Given the description of an element on the screen output the (x, y) to click on. 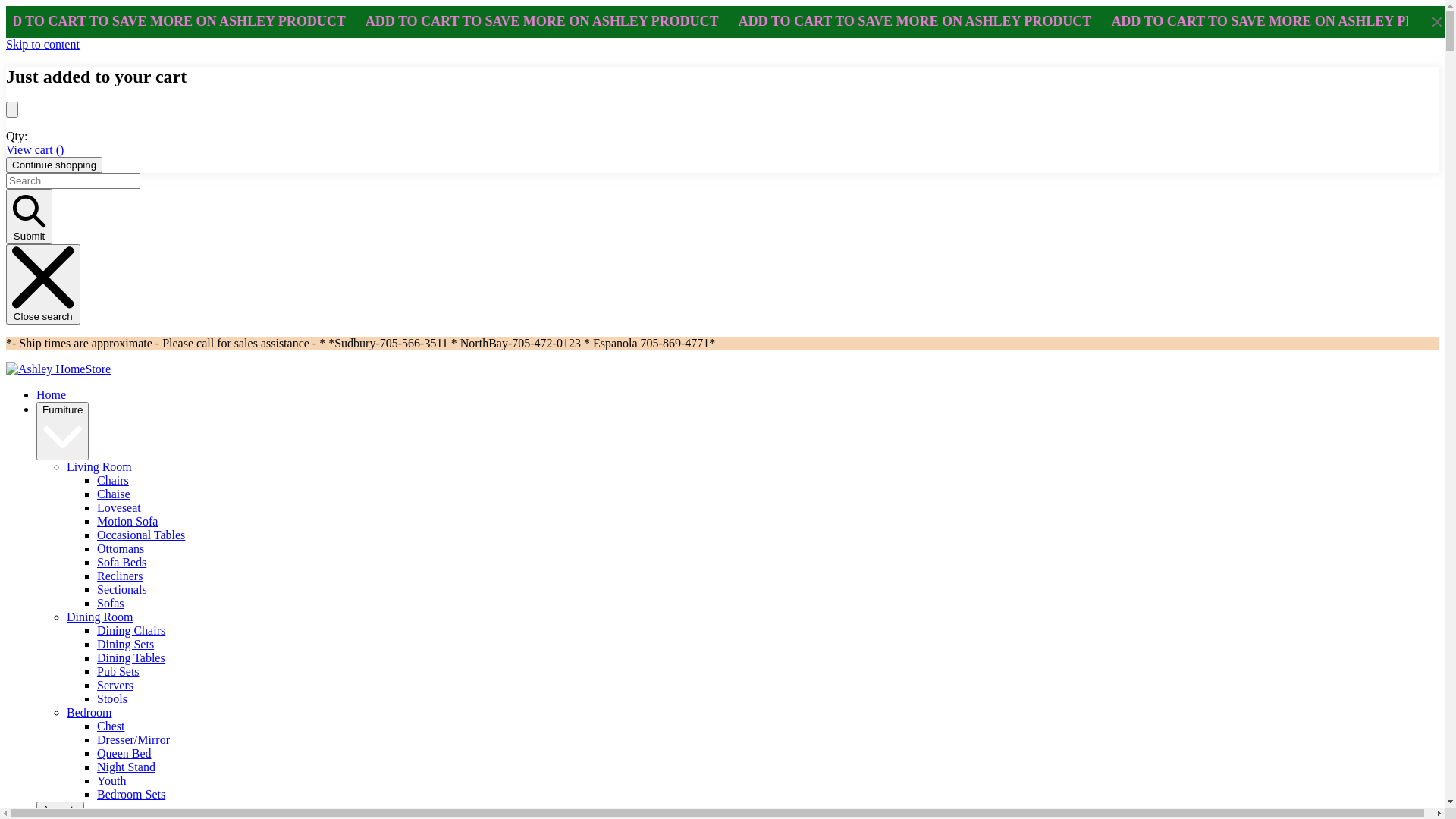
Queen Bed Element type: text (124, 752)
Bedroom Element type: text (89, 712)
Chairs Element type: text (112, 479)
Living Room Element type: text (98, 466)
Dresser/Mirror Element type: text (133, 739)
Submit Element type: text (29, 216)
Servers Element type: text (115, 684)
Night Stand Element type: text (126, 766)
Stools Element type: text (112, 698)
Skip to content Element type: text (42, 43)
Chaise Element type: text (113, 493)
Motion Sofa Element type: text (127, 520)
Dining Sets Element type: text (125, 643)
Dining Tables Element type: text (131, 657)
Close search Element type: text (43, 284)
Recliners Element type: text (119, 575)
View cart () Element type: text (34, 149)
Sofas Element type: text (110, 602)
Sectionals Element type: text (122, 589)
Occasional Tables Element type: text (141, 534)
Ottomans Element type: text (120, 548)
Dining Chairs Element type: text (131, 630)
Youth Element type: text (111, 780)
Loveseat Element type: text (119, 507)
Furniture Element type: text (62, 430)
Bedroom Sets Element type: text (131, 793)
Pub Sets Element type: text (118, 671)
Chest Element type: text (110, 725)
Continue shopping Element type: text (54, 164)
Home Element type: text (50, 394)
Sofa Beds Element type: text (121, 561)
Dining Room Element type: text (99, 616)
